Given the description of an element on the screen output the (x, y) to click on. 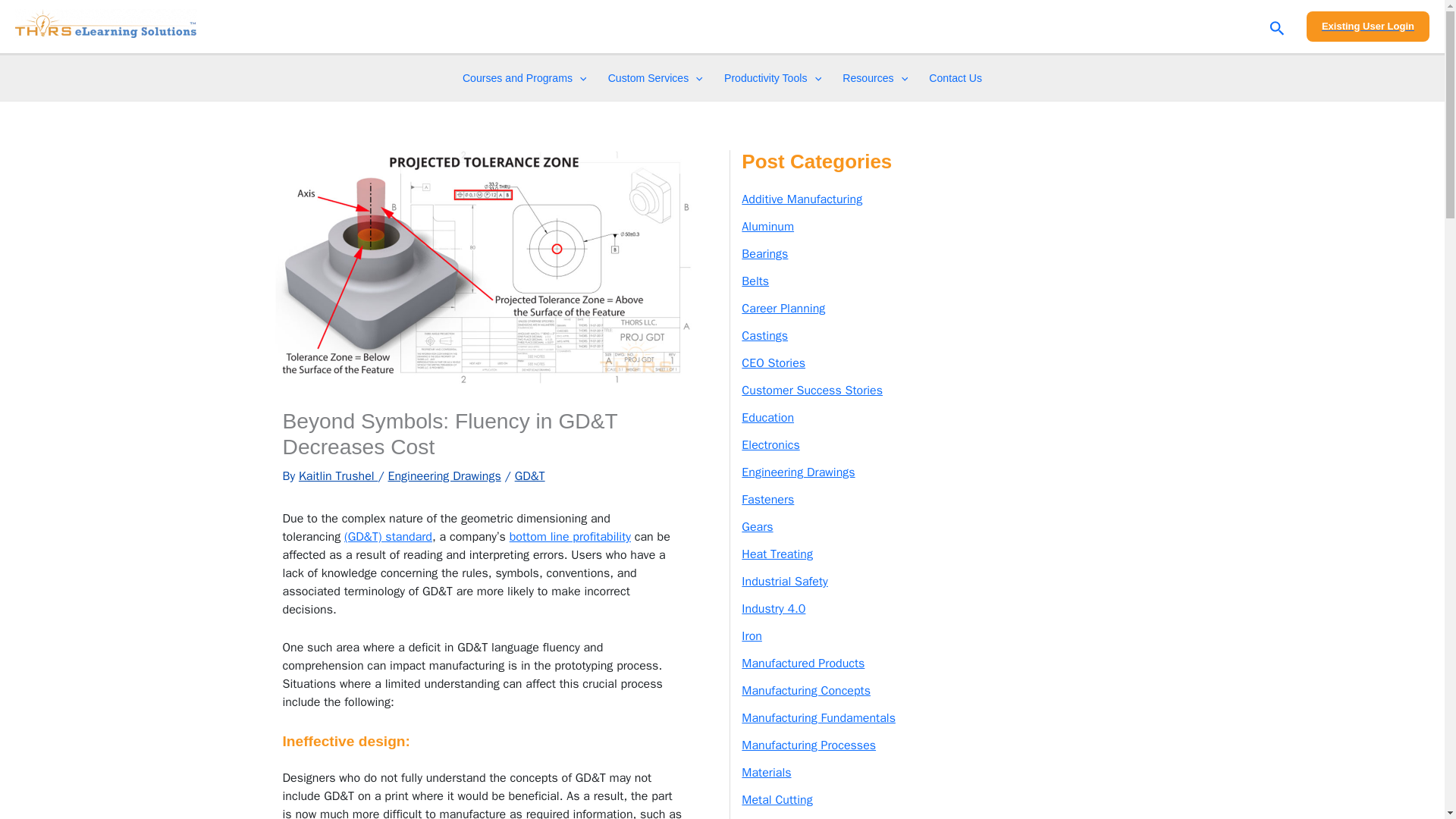
Courses and Programs (523, 77)
Existing User Login (1367, 26)
Custom Services (654, 77)
Resources (874, 77)
View all posts by Kaitlin Trushel (337, 476)
Productivity Tools (772, 77)
Contact Us (955, 77)
